Given the description of an element on the screen output the (x, y) to click on. 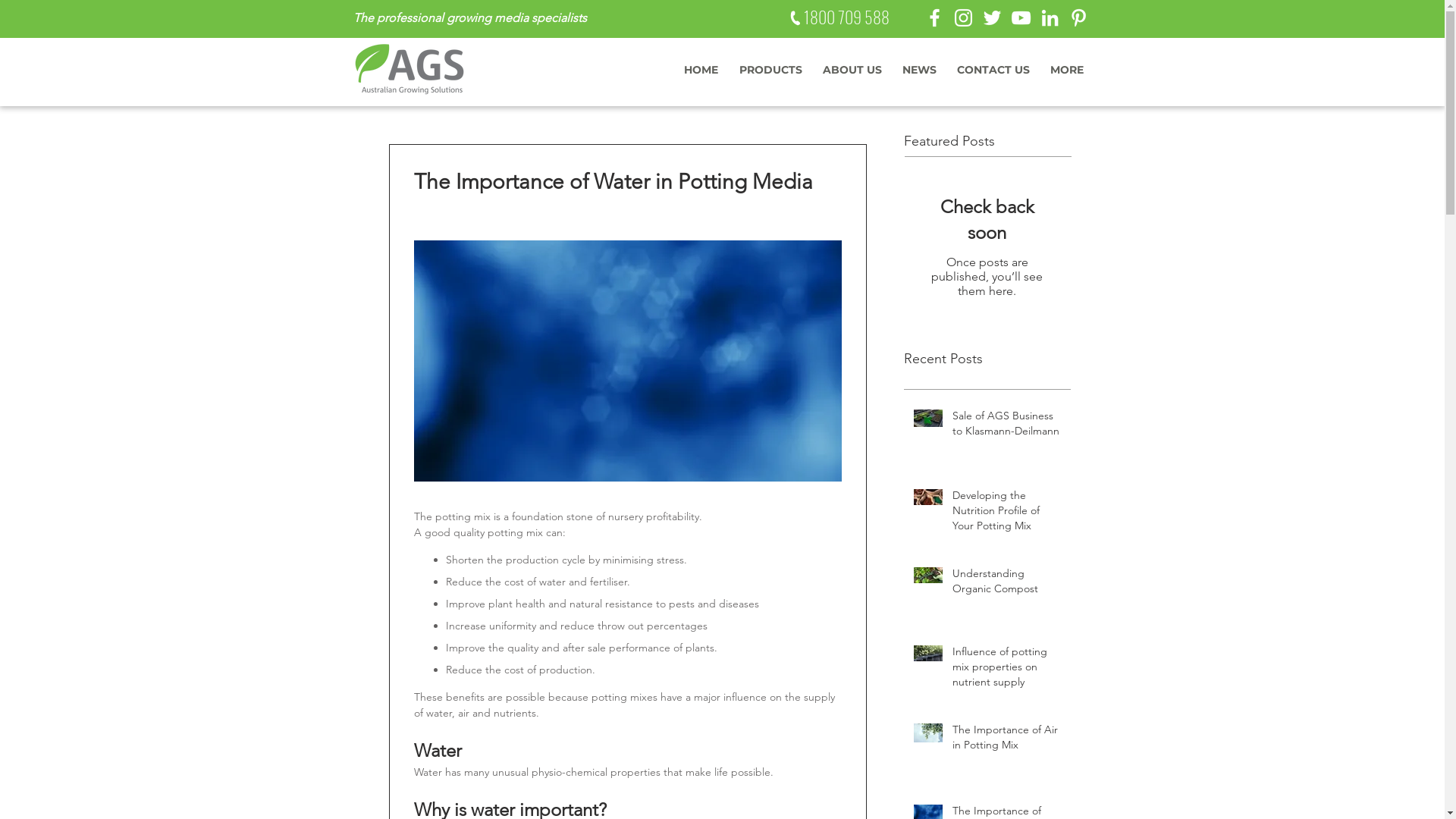
PRODUCTS Element type: text (770, 70)
The Importance of Air in Potting Mix Element type: text (1006, 740)
Developing the Nutrition Profile of Your Potting Mix Element type: text (1006, 513)
NEWS Element type: text (918, 70)
CONTACT US Element type: text (992, 70)
HOME Element type: text (700, 70)
Sale of AGS Business to Klasmann-Deilmann Element type: text (1006, 426)
1800 709 588 Element type: text (854, 16)
ABOUT US Element type: text (852, 70)
Understanding Organic Compost Element type: text (1006, 584)
Influence of potting mix properties on nutrient supply Element type: text (1006, 669)
